Given the description of an element on the screen output the (x, y) to click on. 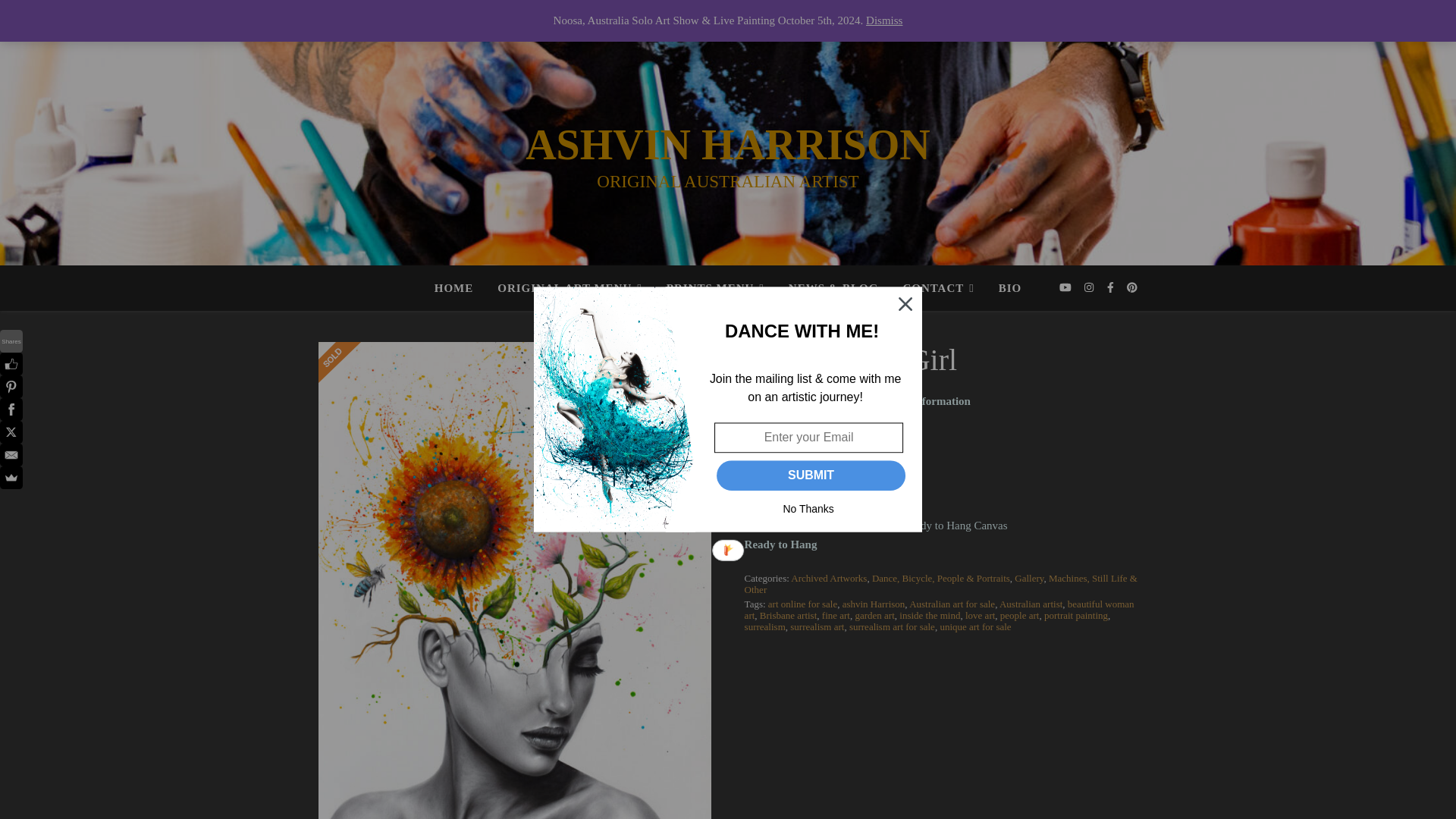
Pinterest (11, 386)
Facebook Like (11, 363)
Facebook (11, 409)
ORIGINAL ART MENU (568, 288)
SumoMe (11, 477)
CONTACT (676, 18)
ASHVIN HARRISON (727, 144)
X (11, 431)
ORIGINAL ART MENU (417, 18)
HOME (336, 18)
PRINTS MENU (714, 288)
PRINTS MENU (520, 18)
Email (11, 454)
HOME (459, 288)
